Given the description of an element on the screen output the (x, y) to click on. 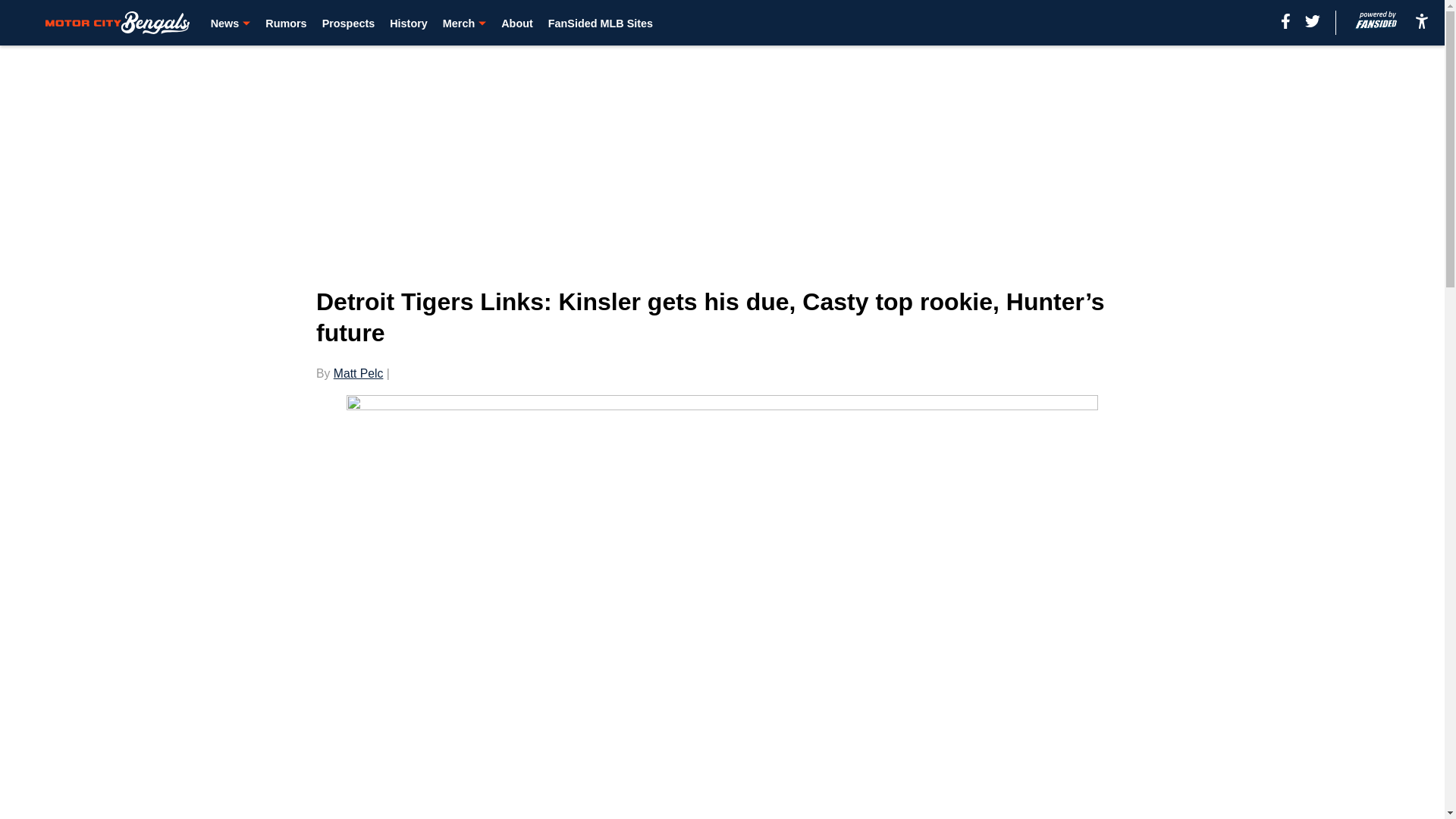
History (409, 23)
Prospects (348, 23)
FanSided MLB Sites (600, 23)
About (516, 23)
Rumors (284, 23)
Matt Pelc (358, 373)
